Given the description of an element on the screen output the (x, y) to click on. 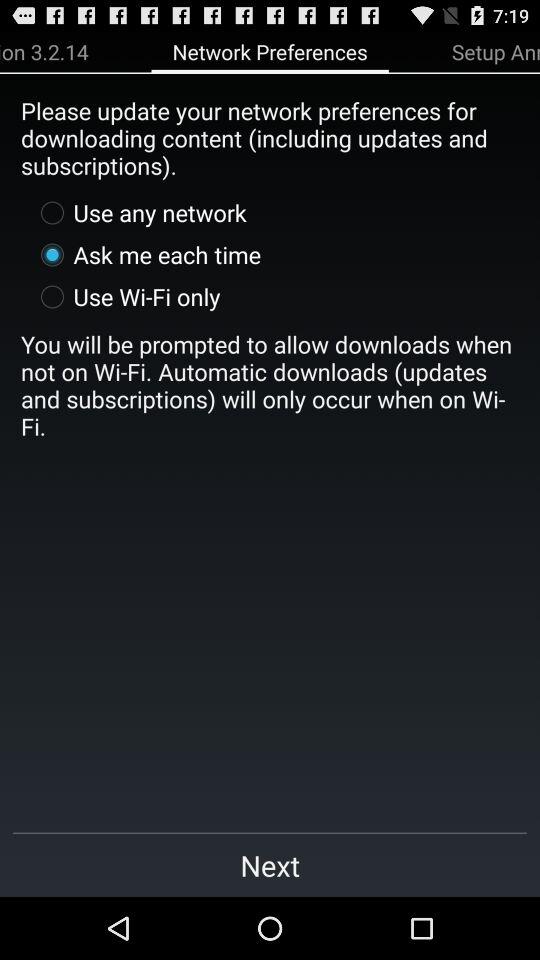
scroll until the ask me each icon (145, 254)
